Given the description of an element on the screen output the (x, y) to click on. 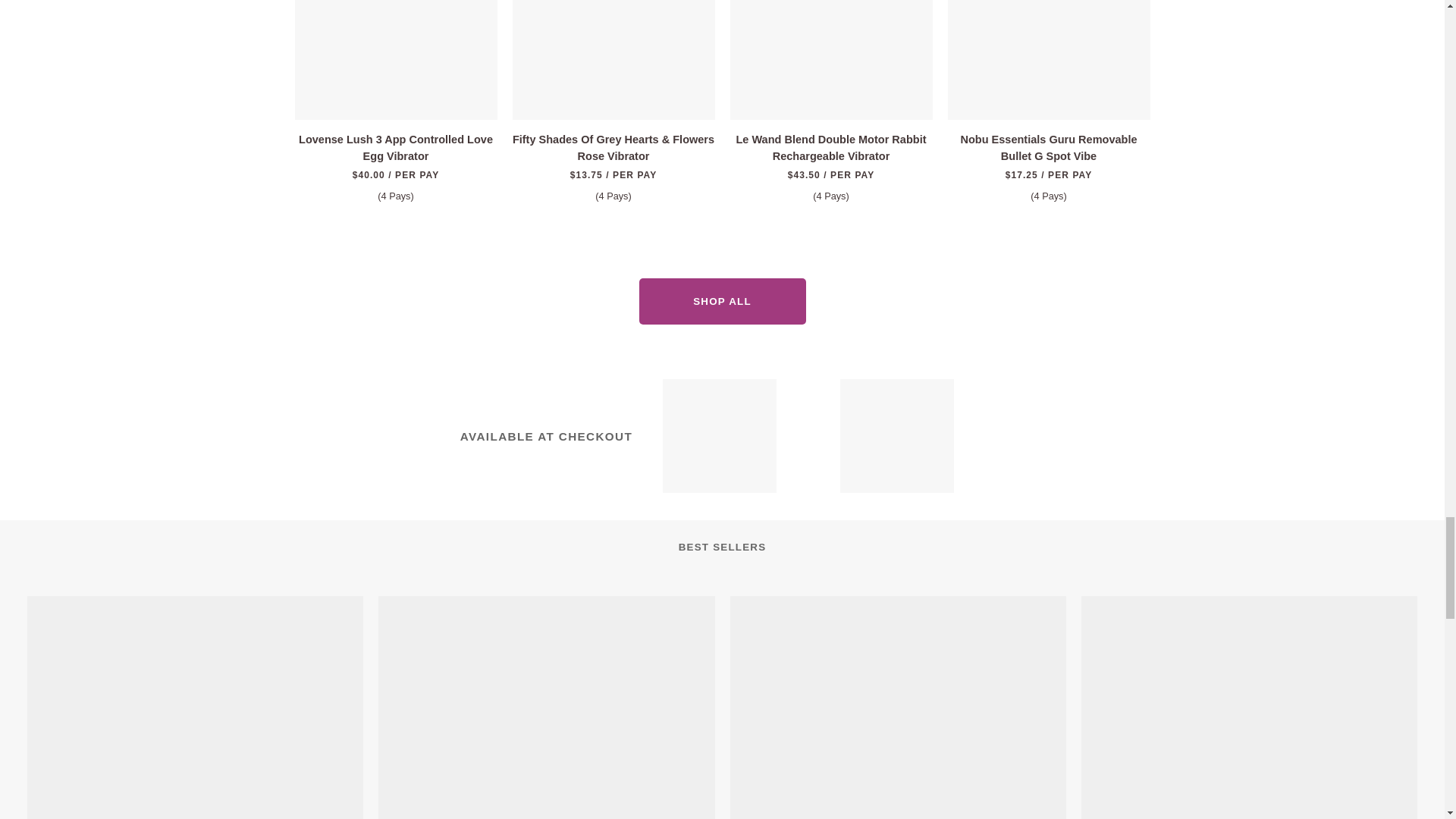
BEST SELLERS (721, 547)
